Given the description of an element on the screen output the (x, y) to click on. 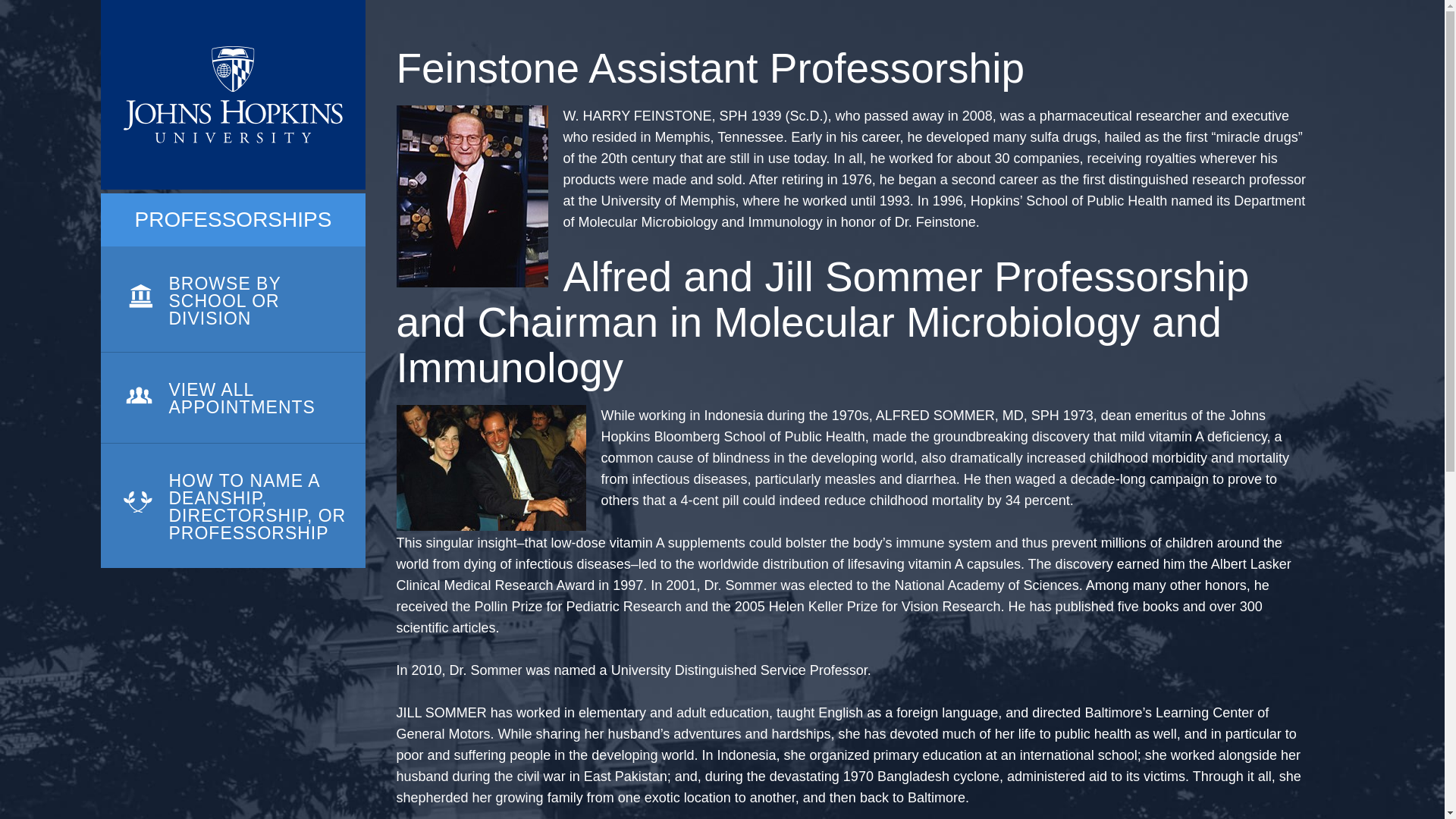
PROFESSORSHIPS (233, 219)
BROWSE BY SCHOOL OR DIVISION (232, 299)
VIEW ALL APPOINTMENTS (232, 397)
JHU Professorships (232, 94)
HOW TO NAME A DEANSHIP, DIRECTORSHIP, OR PROFESSORSHIP (232, 505)
